Given the description of an element on the screen output the (x, y) to click on. 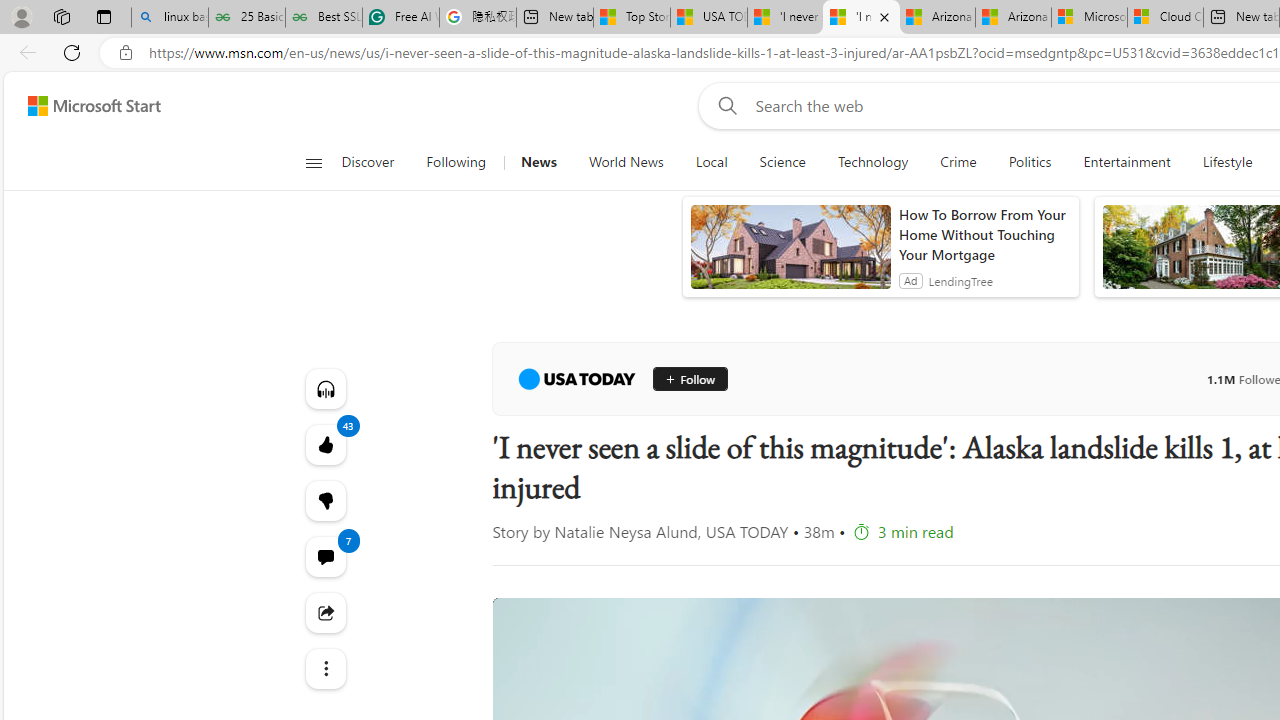
USA TODAY (576, 378)
LendingTree (960, 280)
Follow (689, 378)
Cloud Computing Services | Microsoft Azure (1165, 17)
25 Basic Linux Commands For Beginners - GeeksforGeeks (246, 17)
anim-content (789, 255)
